Given the description of an element on the screen output the (x, y) to click on. 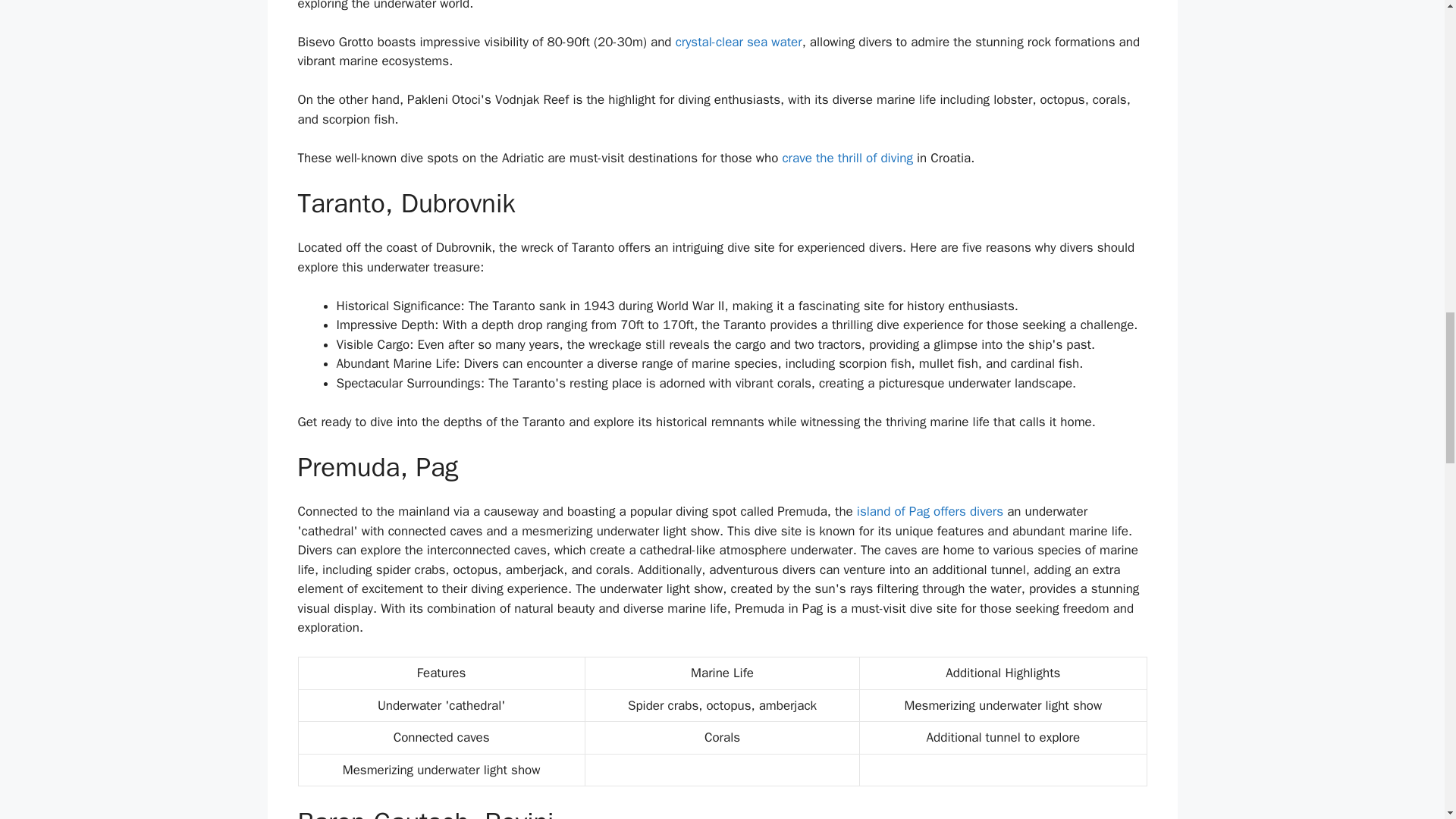
crystal-clear sea water (738, 41)
crave the thrill of diving (846, 157)
island of Pag offers divers (930, 511)
